Given the description of an element on the screen output the (x, y) to click on. 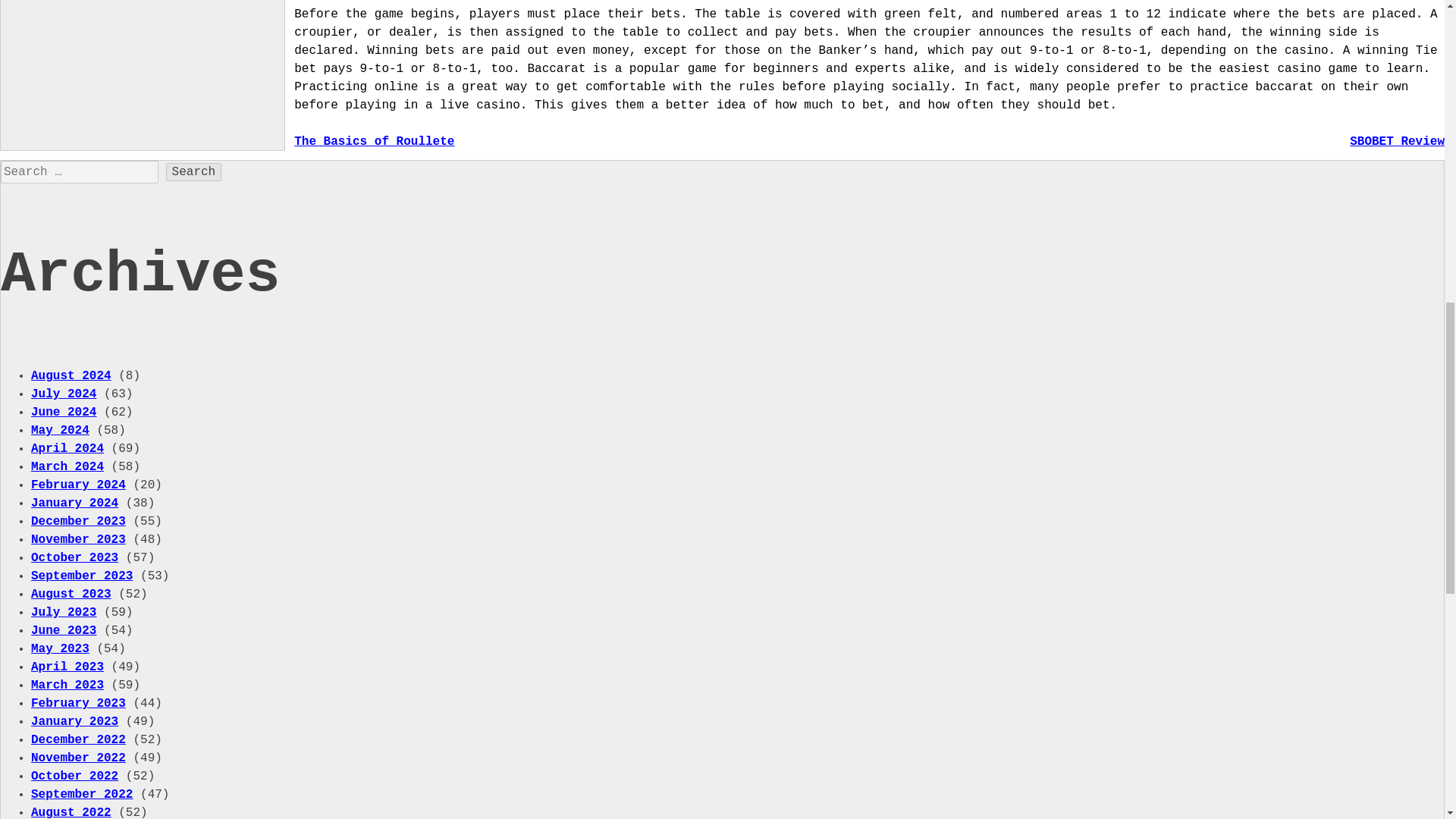
The Basics of Roullete (374, 141)
April 2024 (66, 448)
Search (193, 171)
December 2022 (77, 739)
August 2024 (71, 376)
September 2023 (81, 576)
August 2023 (71, 594)
October 2023 (73, 558)
April 2023 (66, 667)
February 2024 (77, 485)
May 2024 (59, 430)
March 2023 (66, 685)
October 2022 (73, 775)
June 2023 (63, 631)
January 2023 (73, 721)
